Given the description of an element on the screen output the (x, y) to click on. 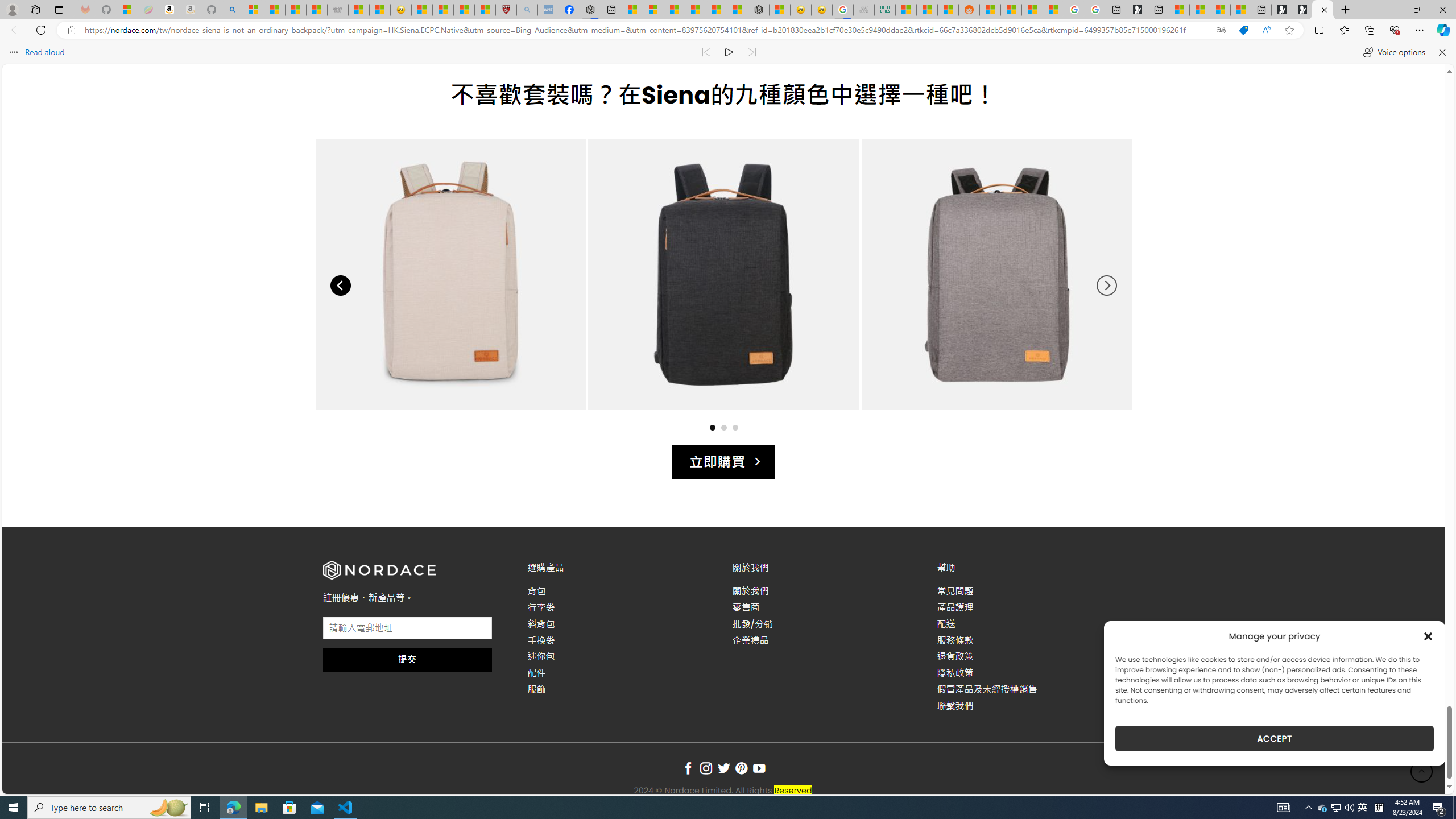
Go to top (1421, 771)
ACCEPT (1274, 738)
Combat Siege (337, 9)
AutomationID: input_4_1 (406, 627)
